Given the description of an element on the screen output the (x, y) to click on. 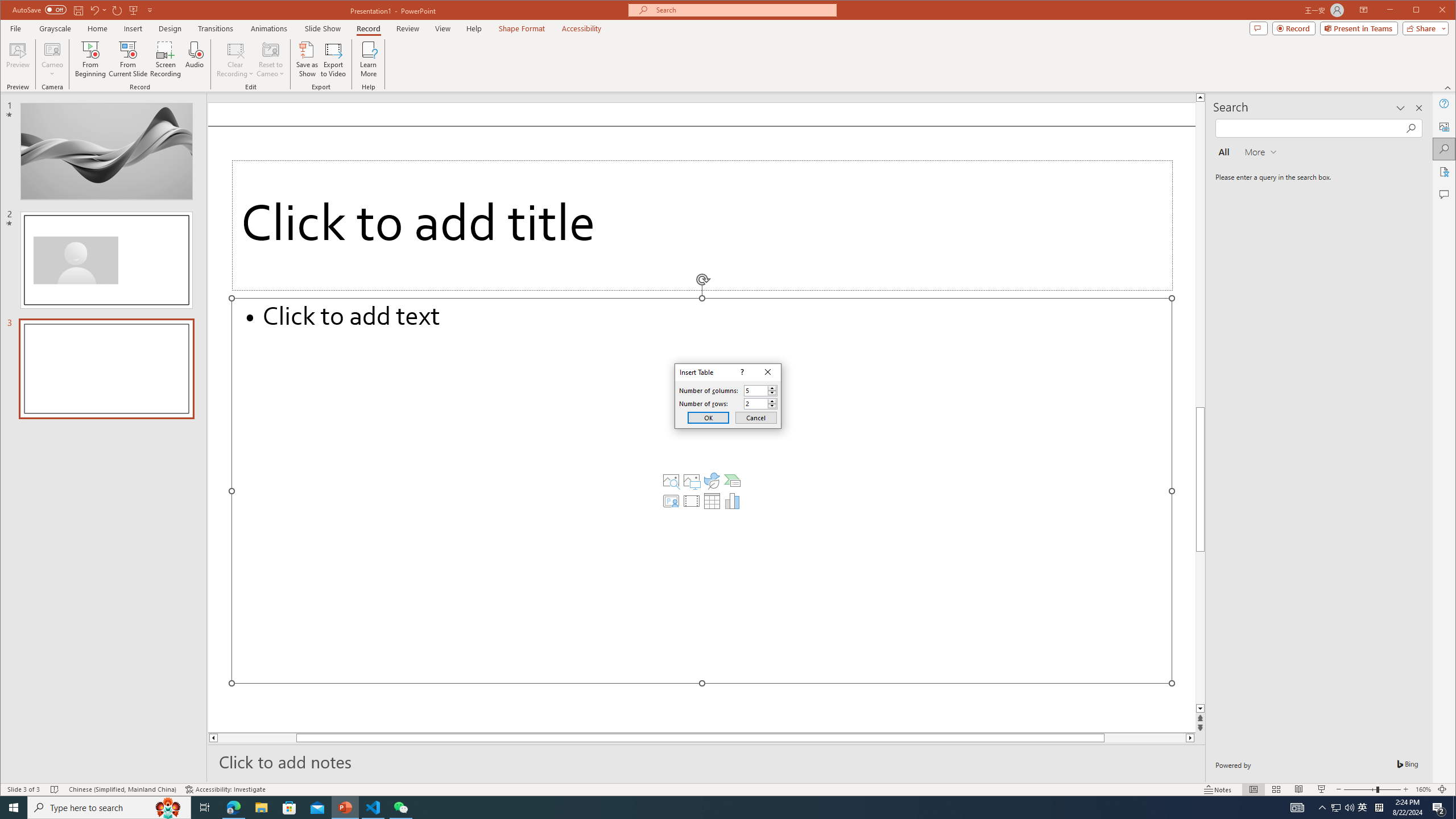
Insert a SmartArt Graphic (732, 480)
Running applications (707, 807)
Title TextBox (701, 225)
Number of rows (755, 403)
